Given the description of an element on the screen output the (x, y) to click on. 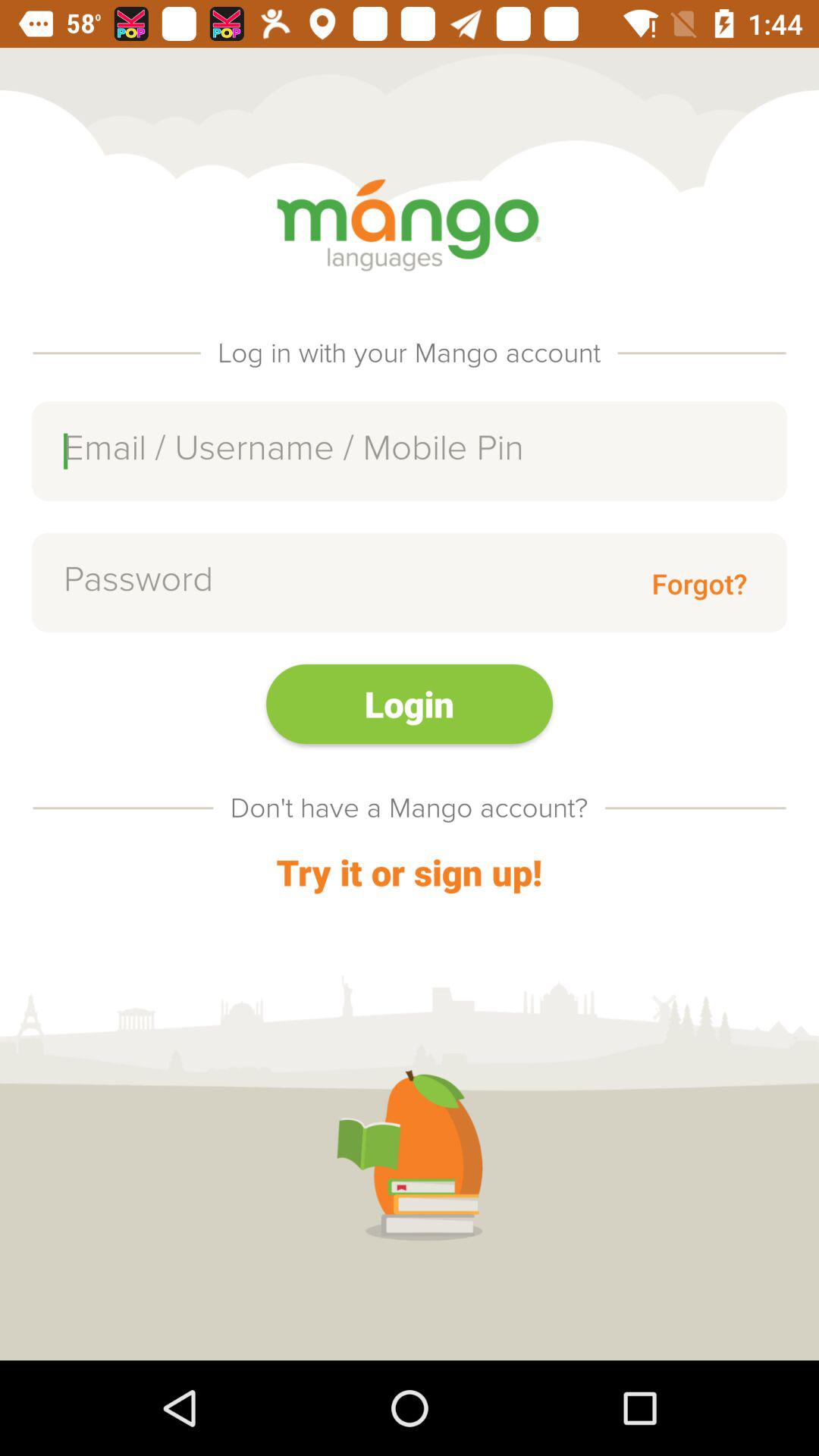
enter your name (409, 451)
